Given the description of an element on the screen output the (x, y) to click on. 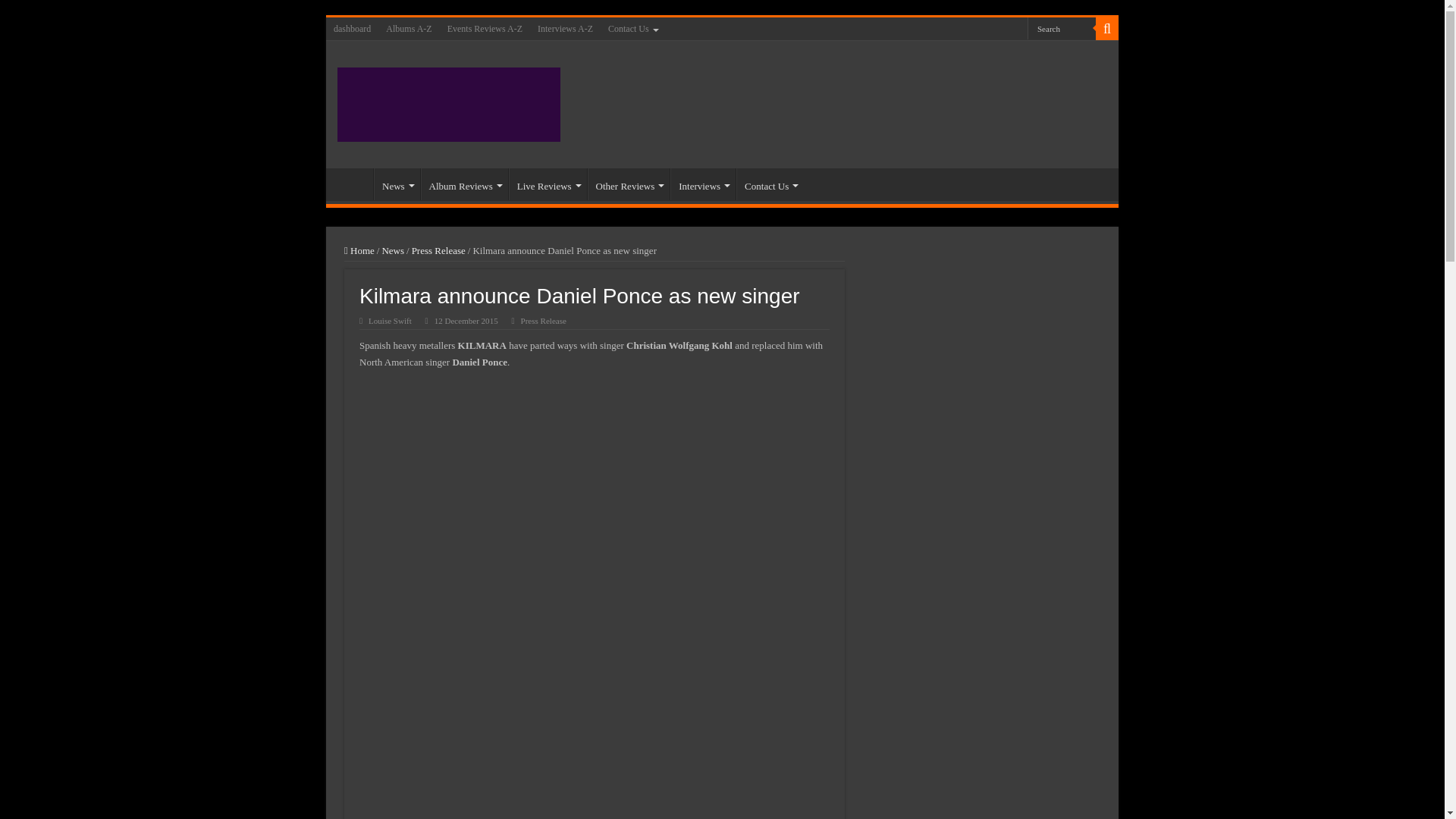
Search (1061, 28)
Other Reviews (628, 183)
Home (352, 183)
Albums A-Z (408, 28)
Album Reviews (464, 183)
Search (1061, 28)
PlanetMosh (448, 101)
Interviews A-Z (564, 28)
Contact Us (631, 28)
dashboard (352, 28)
News (397, 183)
Events Reviews A-Z (484, 28)
Live Reviews (547, 183)
Search (1061, 28)
